Given the description of an element on the screen output the (x, y) to click on. 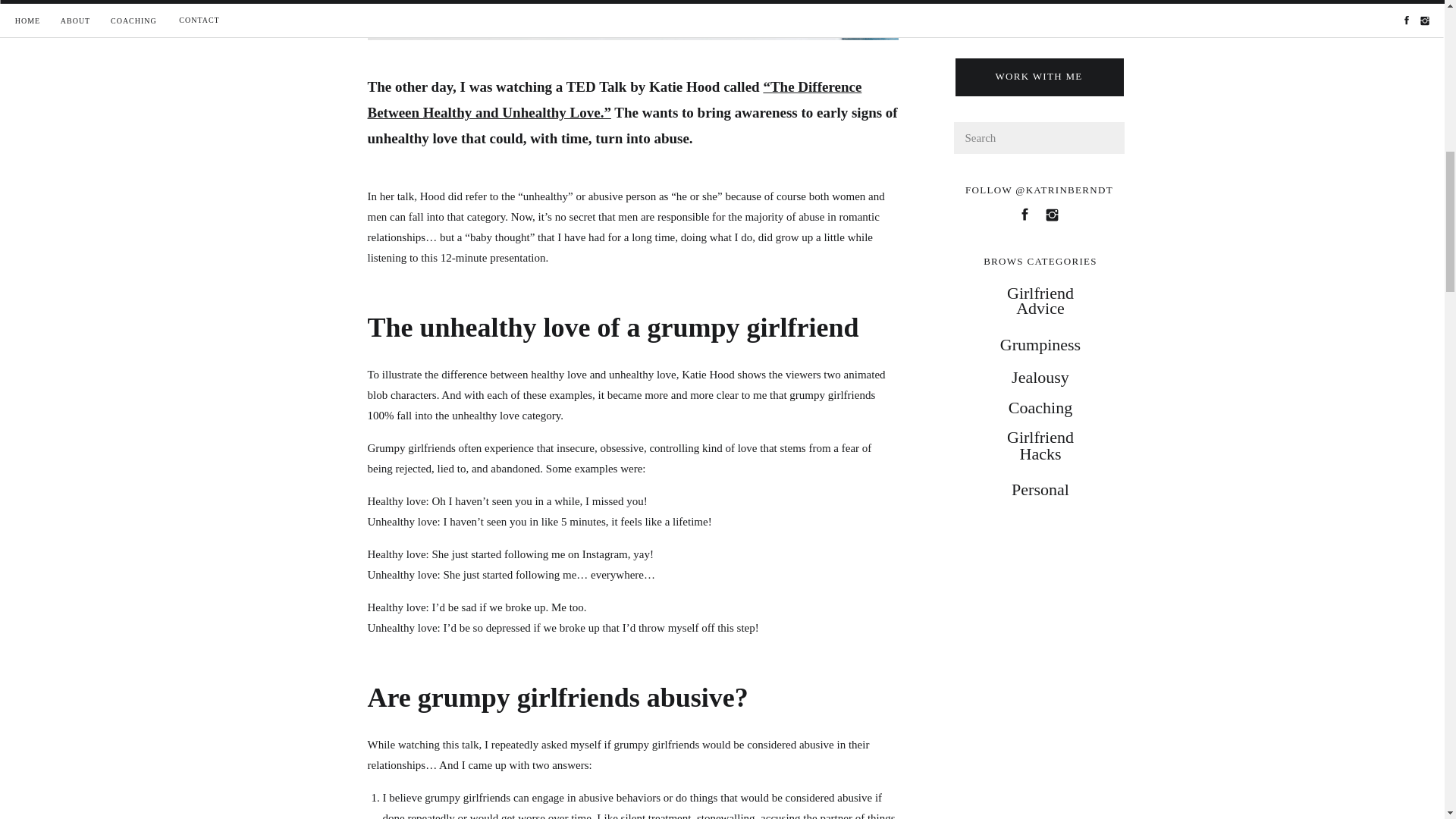
Girlfriend Advice (1040, 301)
Coaching (1040, 404)
Personal (1040, 489)
Jealousy (1040, 373)
Grumpiness (1040, 341)
WORK WITH ME (1038, 78)
Girlfriend Hacks (1040, 445)
